Given the description of an element on the screen output the (x, y) to click on. 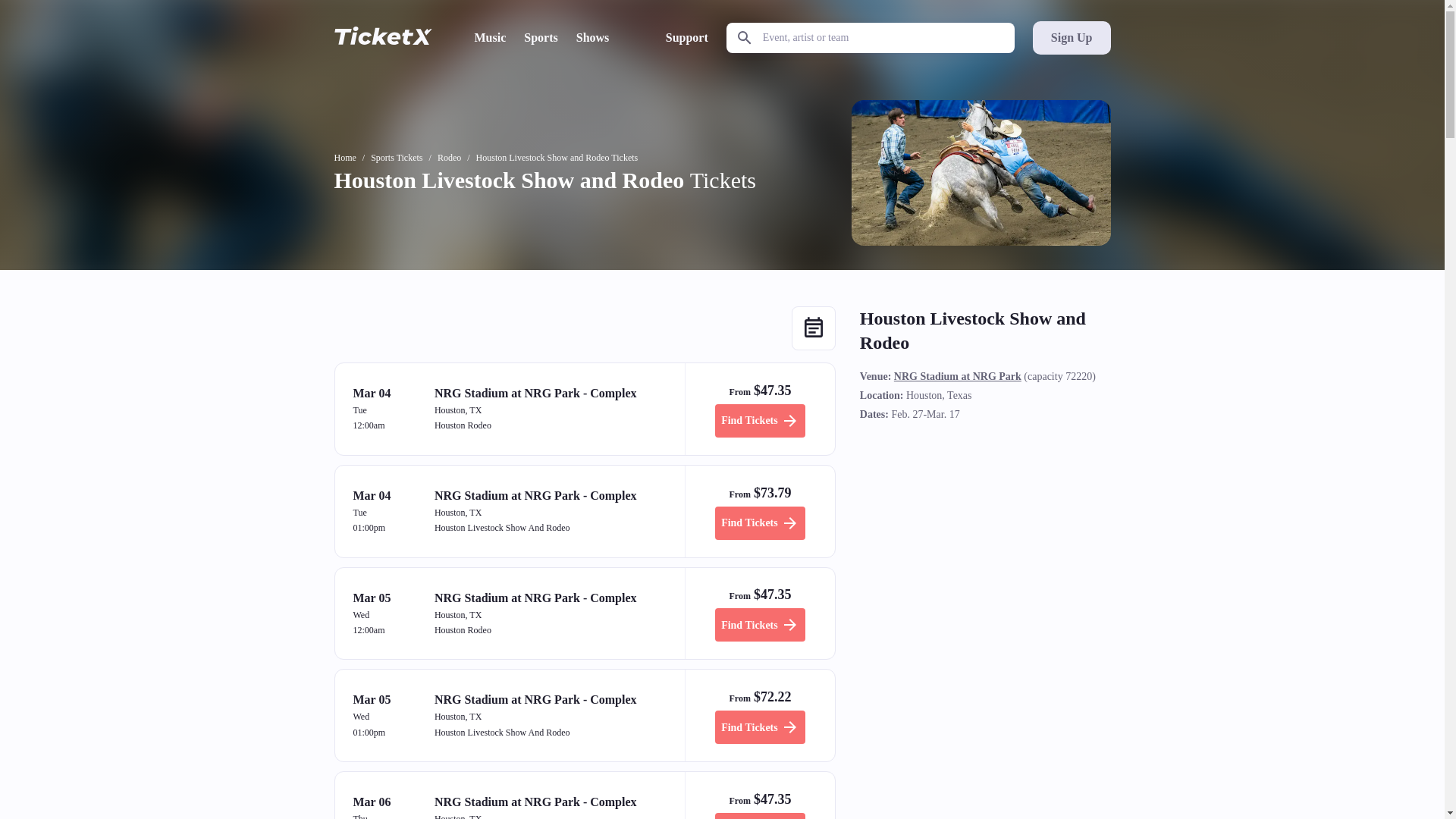
Sign Up (1071, 37)
Find Tickets (759, 816)
Sports Tickets (396, 157)
Home (344, 157)
Find Tickets (759, 420)
Music (490, 37)
Sports (540, 37)
Find Tickets (759, 522)
Rodeo (449, 157)
Event, artist or team (870, 37)
